Given the description of an element on the screen output the (x, y) to click on. 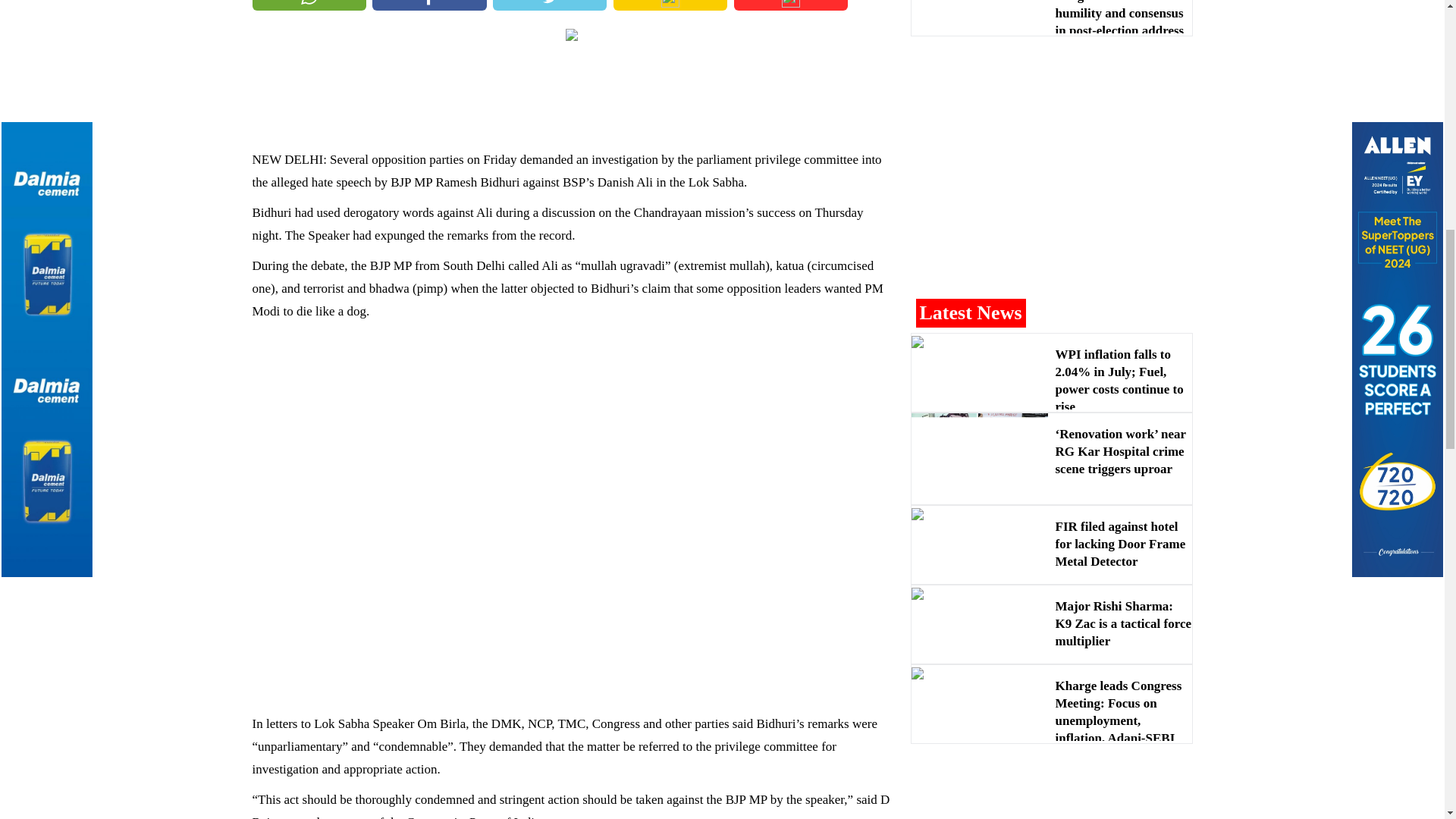
Share on koo-share (669, 5)
Share on WhatsApp (308, 5)
Share on koo-share (790, 5)
Share on Twitter (550, 5)
Share on Facebook (429, 5)
